Given the description of an element on the screen output the (x, y) to click on. 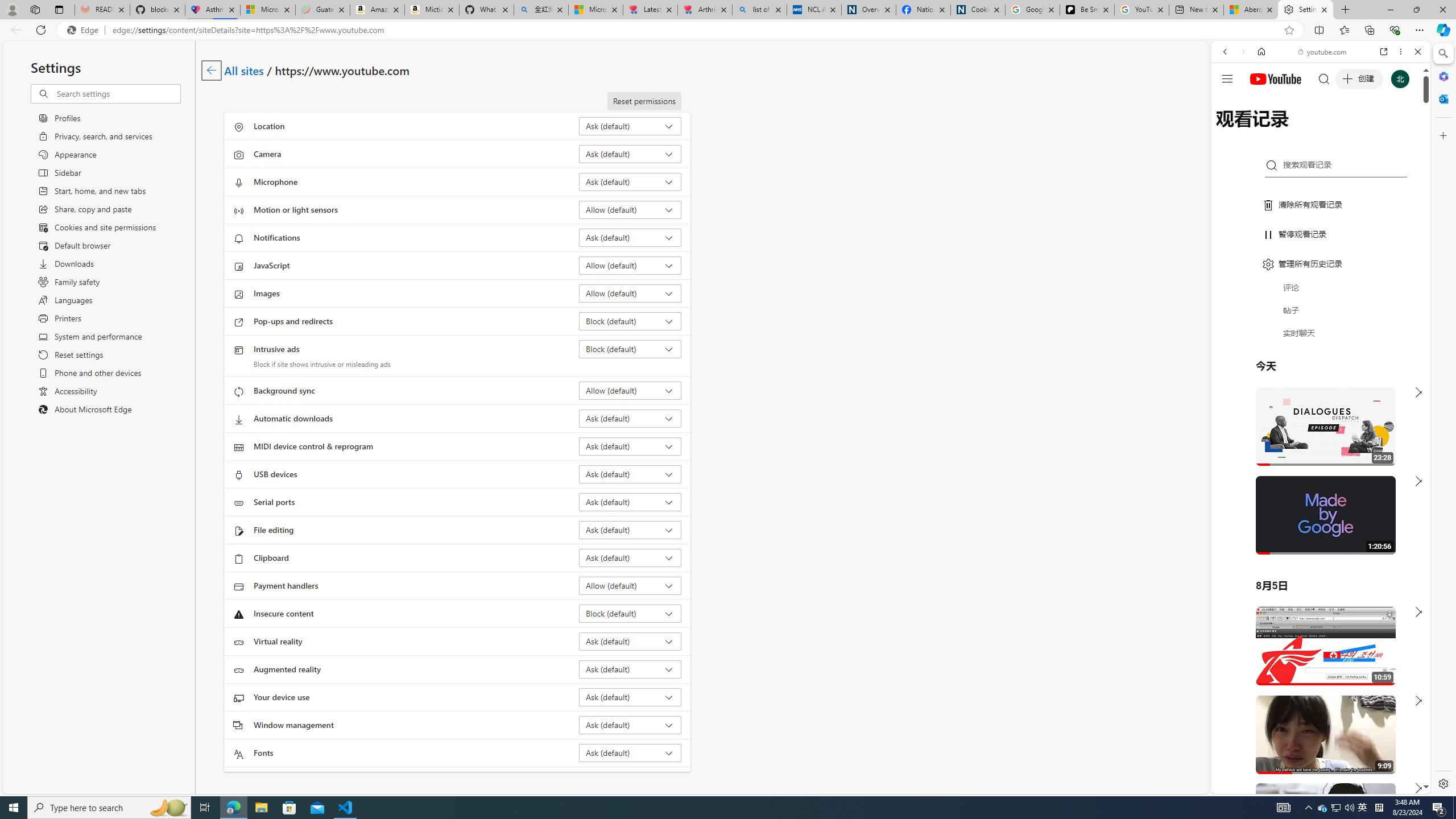
YouTube (1315, 655)
JavaScript Allow (default) (630, 265)
Trailer #2 [HD] (1320, 337)
MIDI device control & reprogram Ask (default) (630, 446)
Aberdeen, Hong Kong SAR hourly forecast | Microsoft Weather (1250, 9)
Search videos from youtube.com (1299, 373)
